Given the description of an element on the screen output the (x, y) to click on. 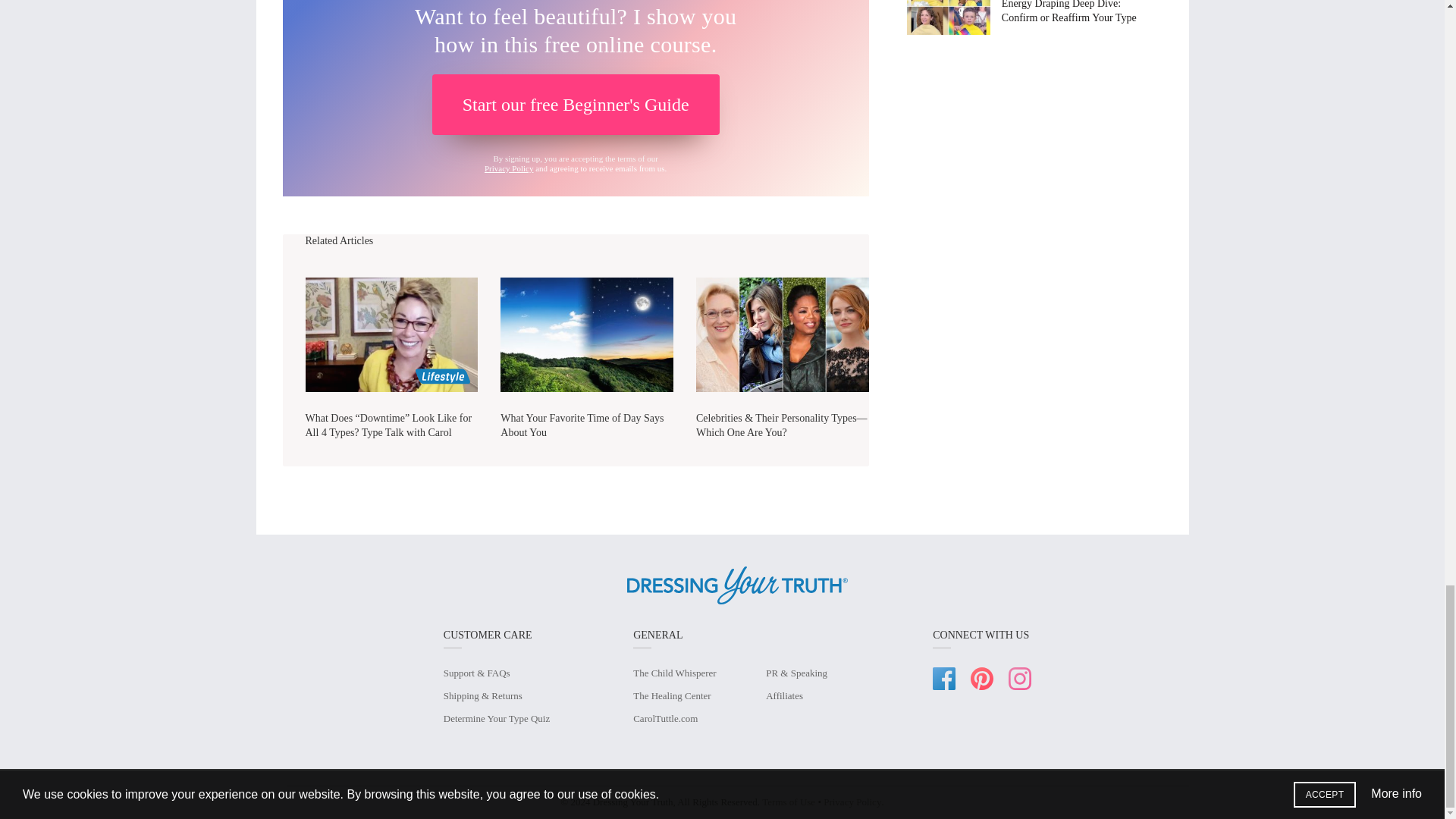
What Your Favorite Time of Day Says About You (586, 334)
What Your Favorite Time of Day Says About You (581, 425)
